Given the description of an element on the screen output the (x, y) to click on. 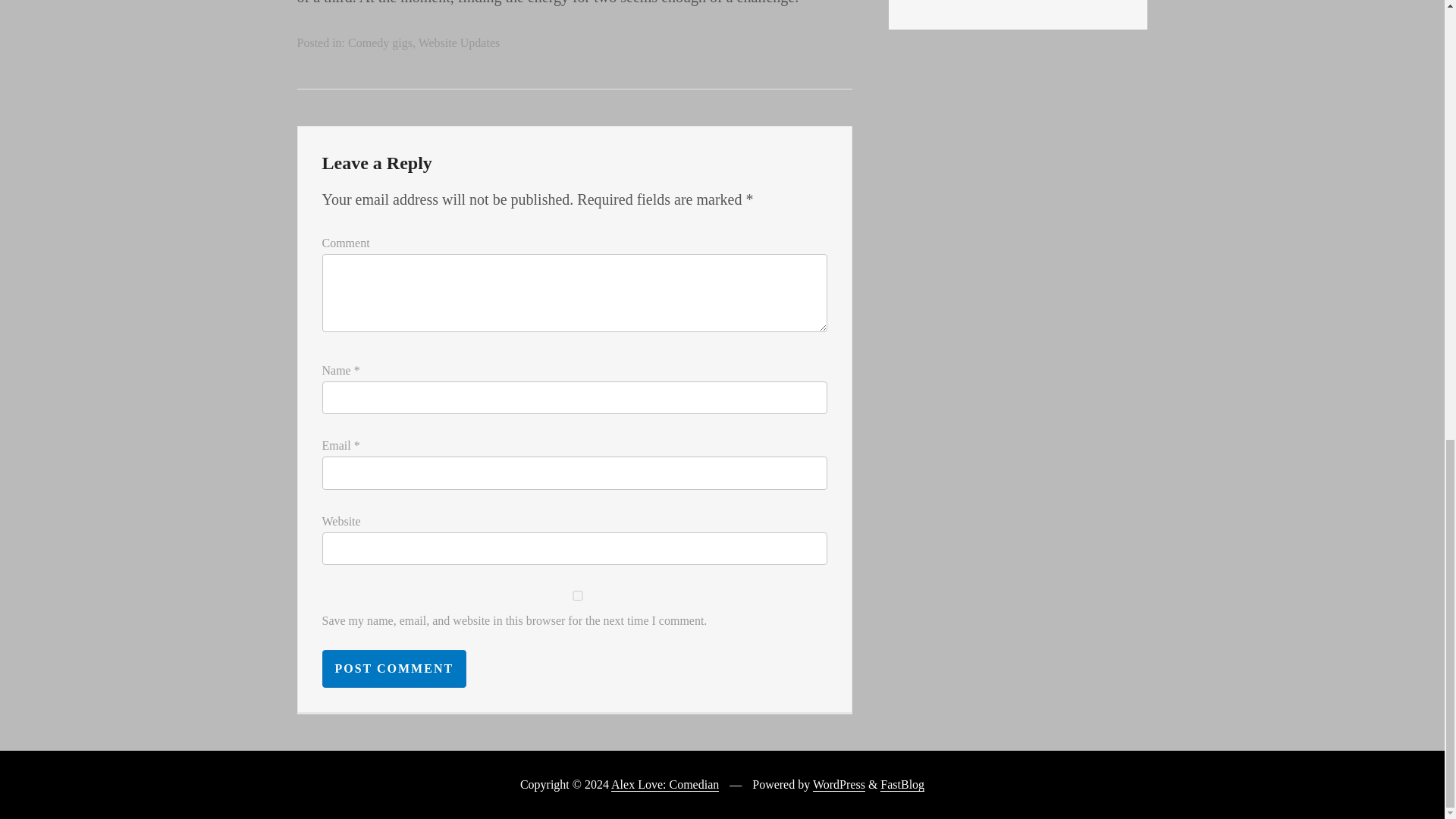
yes (576, 595)
WordPress (838, 784)
Alex Love: Comedian (665, 784)
Post Comment (393, 668)
FastBlog (902, 784)
Post Comment (393, 668)
Comedy gigs (379, 42)
Website Updates (459, 42)
